Given the description of an element on the screen output the (x, y) to click on. 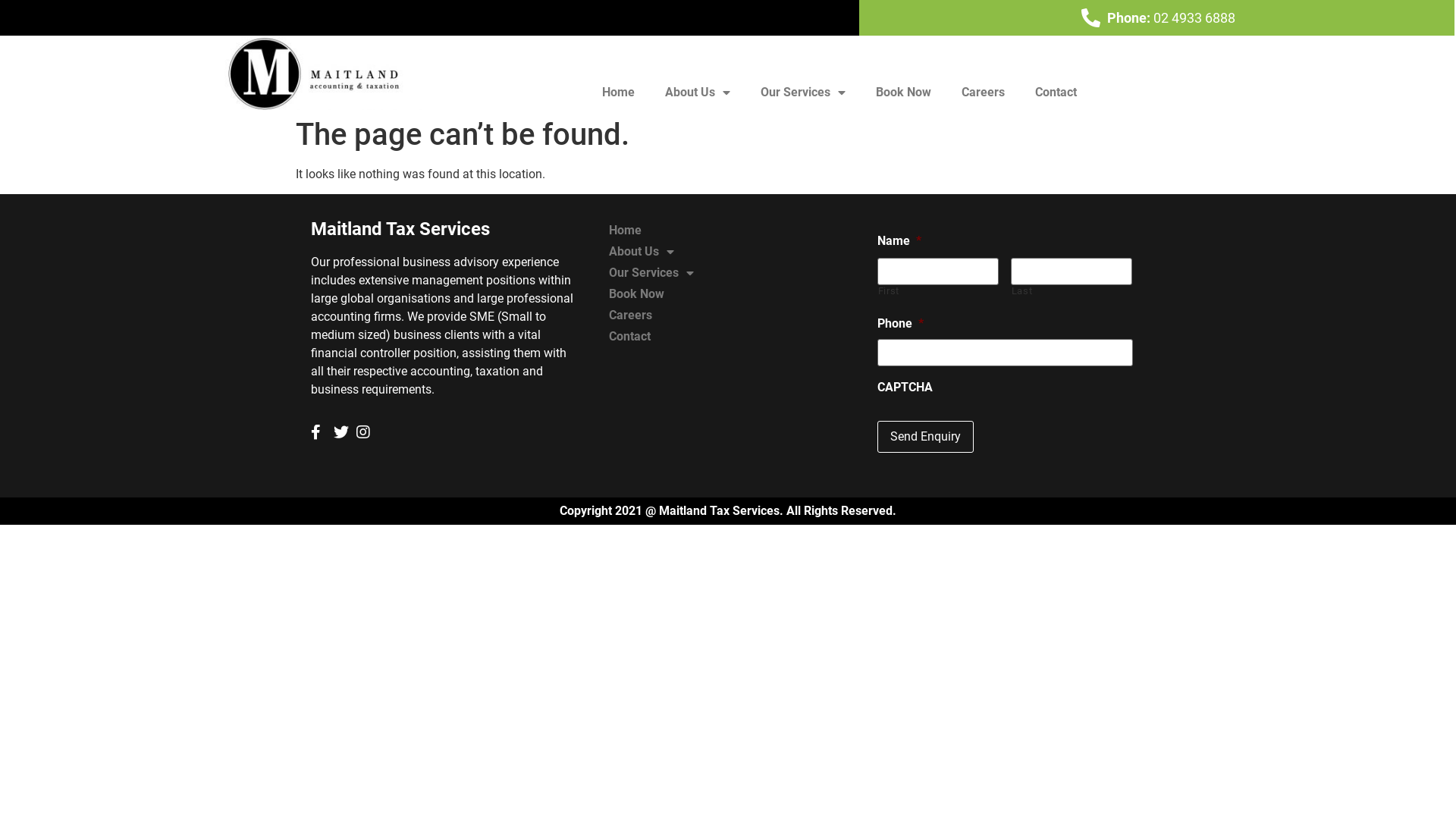
Our Services Element type: text (802, 92)
Careers Element type: text (982, 92)
Phone: 02 4933 6888 Element type: text (1156, 17)
About Us Element type: text (697, 92)
Book Now Element type: text (651, 293)
About Us Element type: text (651, 251)
Contact Element type: text (651, 336)
Contact Element type: text (1055, 92)
Send Enquiry Element type: text (925, 436)
Home Element type: text (617, 92)
Book Now Element type: text (903, 92)
Careers Element type: text (651, 315)
Our Services Element type: text (651, 272)
Home Element type: text (651, 230)
